Given the description of an element on the screen output the (x, y) to click on. 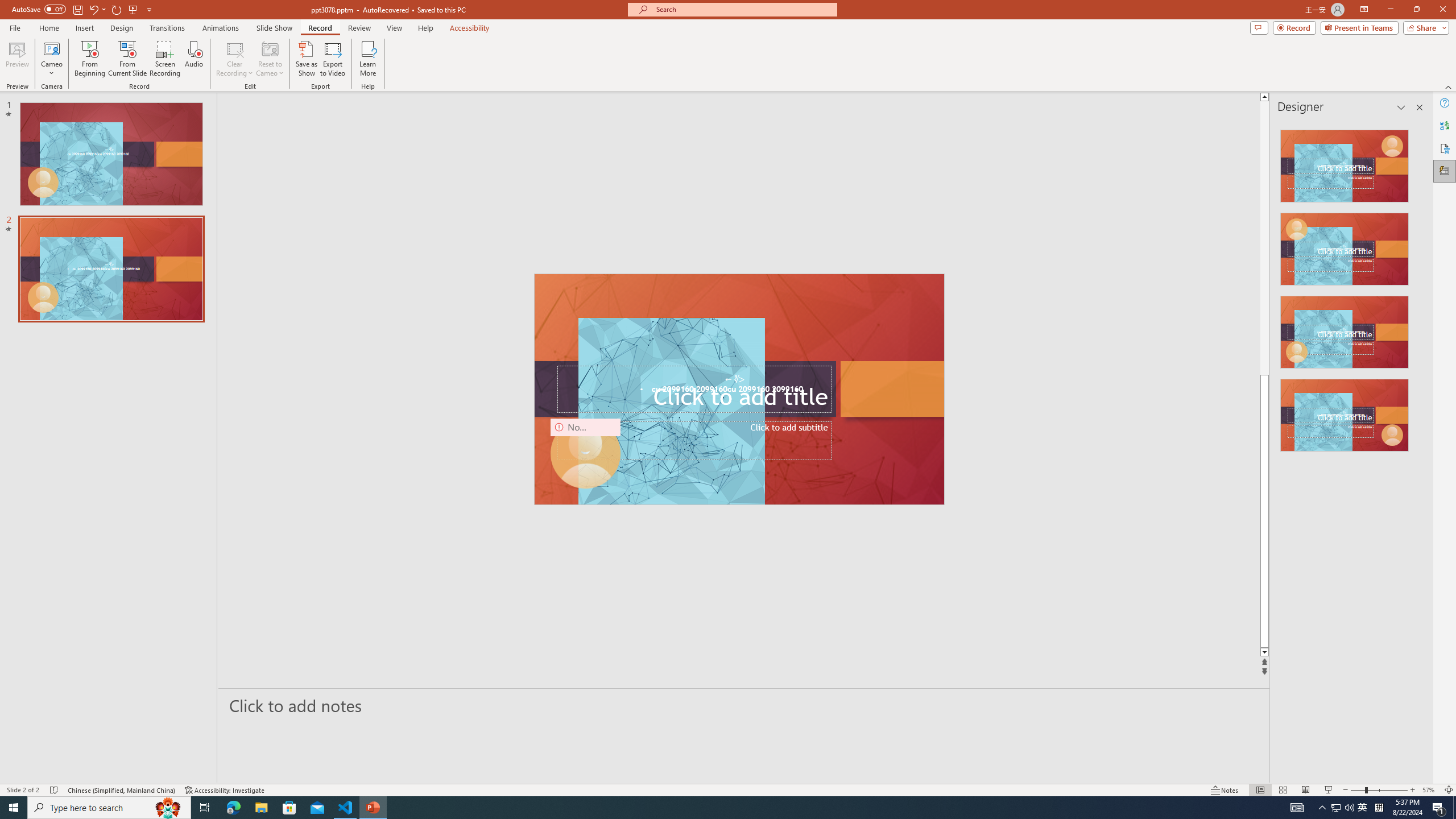
TextBox 61 (737, 390)
